Given the description of an element on the screen output the (x, y) to click on. 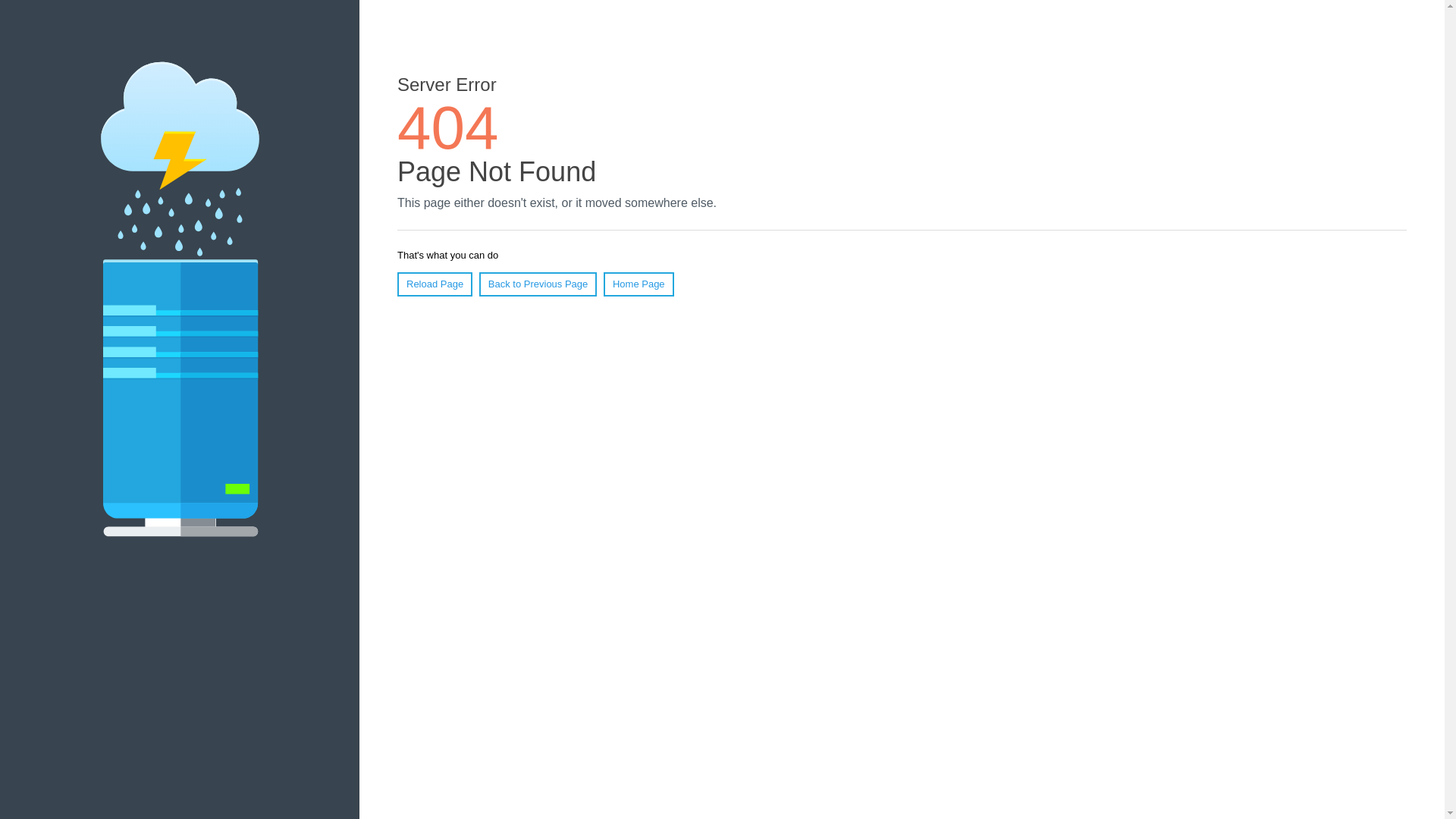
Back to Previous Page Element type: text (538, 284)
Reload Page Element type: text (434, 284)
Home Page Element type: text (638, 284)
